Given the description of an element on the screen output the (x, y) to click on. 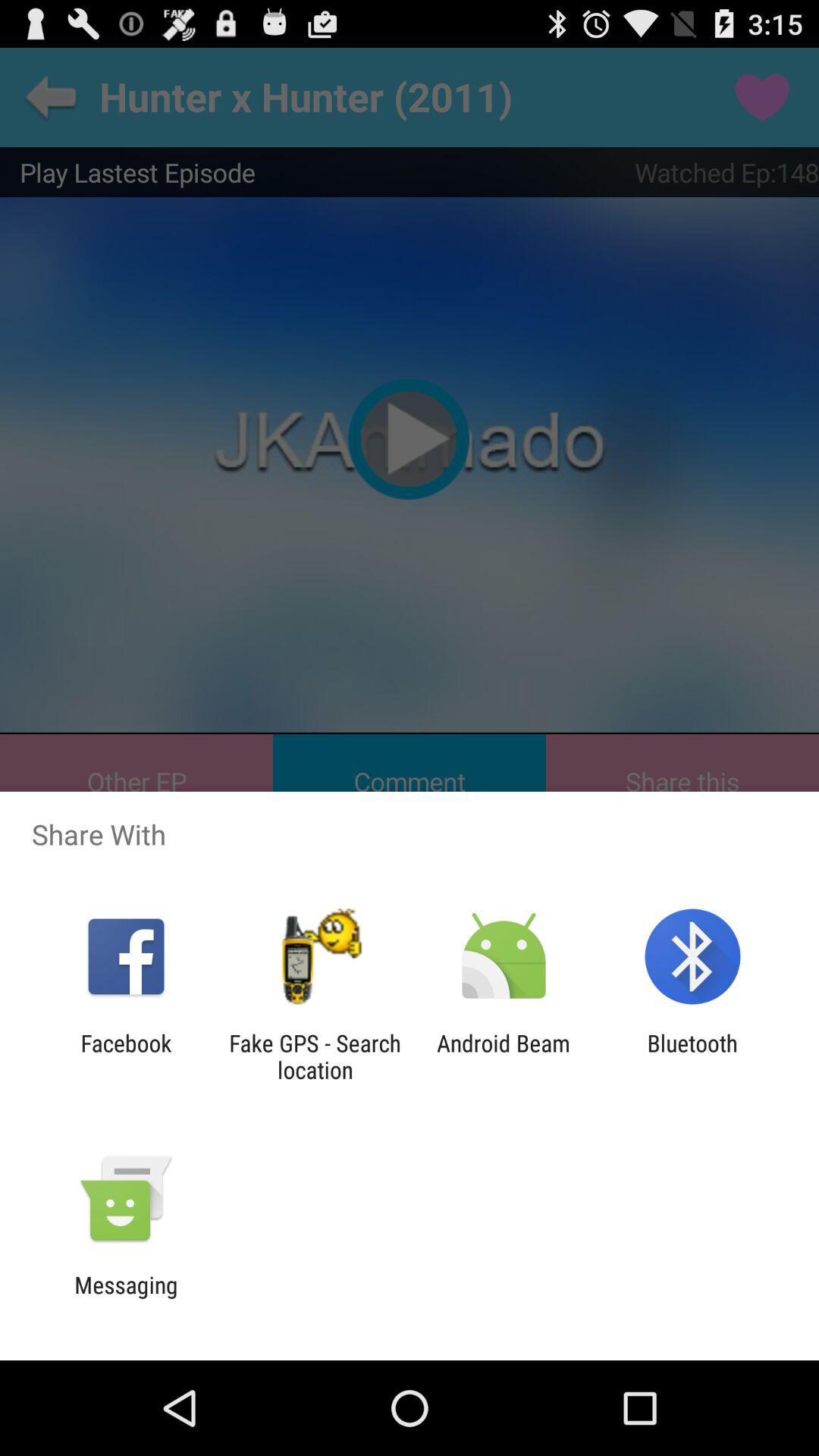
turn off app to the left of the fake gps search item (125, 1056)
